Given the description of an element on the screen output the (x, y) to click on. 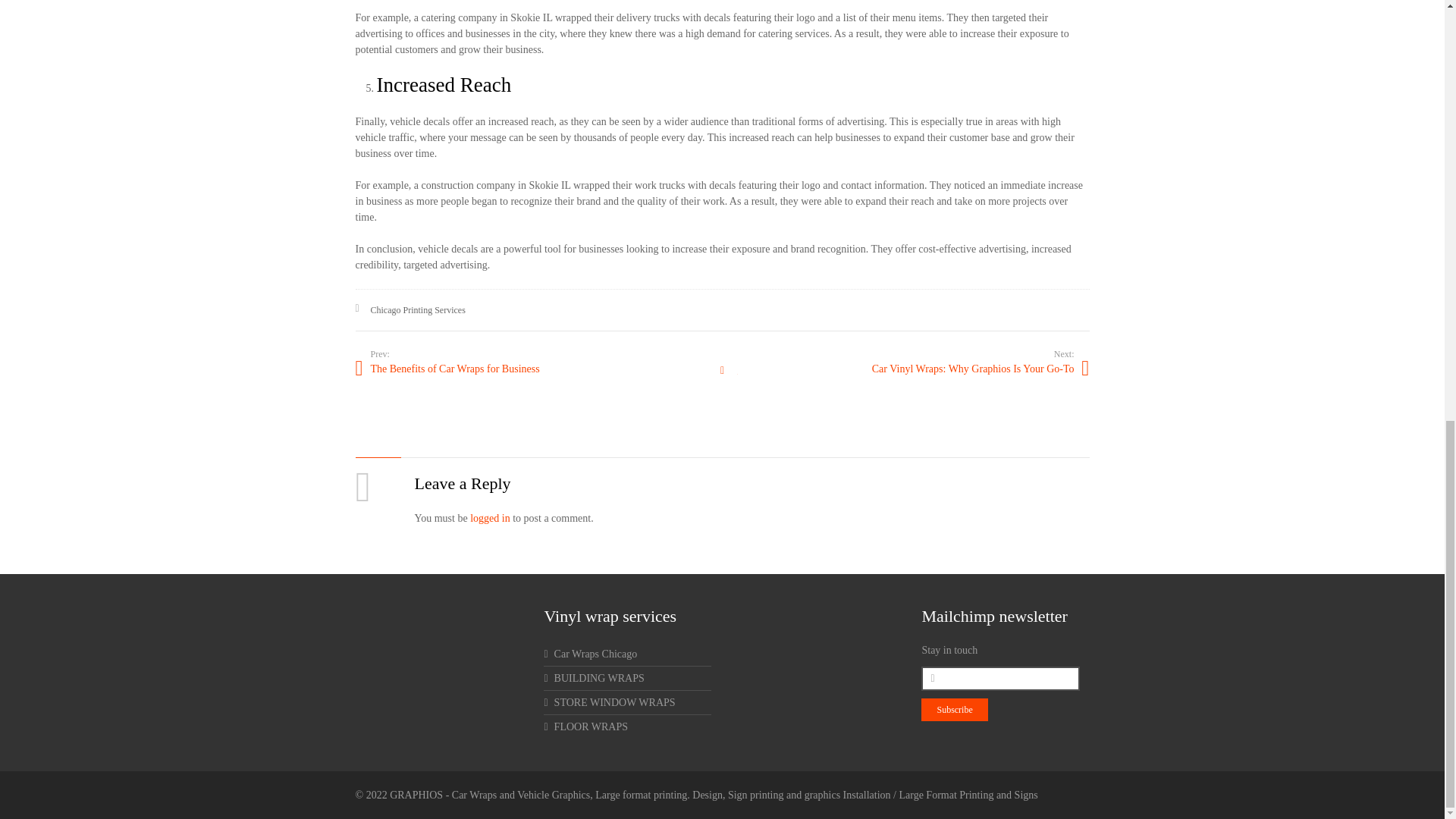
BUILDING WRAPS (593, 677)
STORE WINDOW WRAPS (609, 702)
Chicago Printing Services (416, 309)
logged in (490, 518)
All Posts (721, 371)
Car Vinyl Wraps: Why Graphios Is Your Go-To (905, 368)
FLOOR WRAPS (585, 726)
Car Wraps Chicago (590, 654)
The Benefits of Car Wraps for Business (538, 368)
See all entries (721, 371)
Subscribe (954, 709)
